Given the description of an element on the screen output the (x, y) to click on. 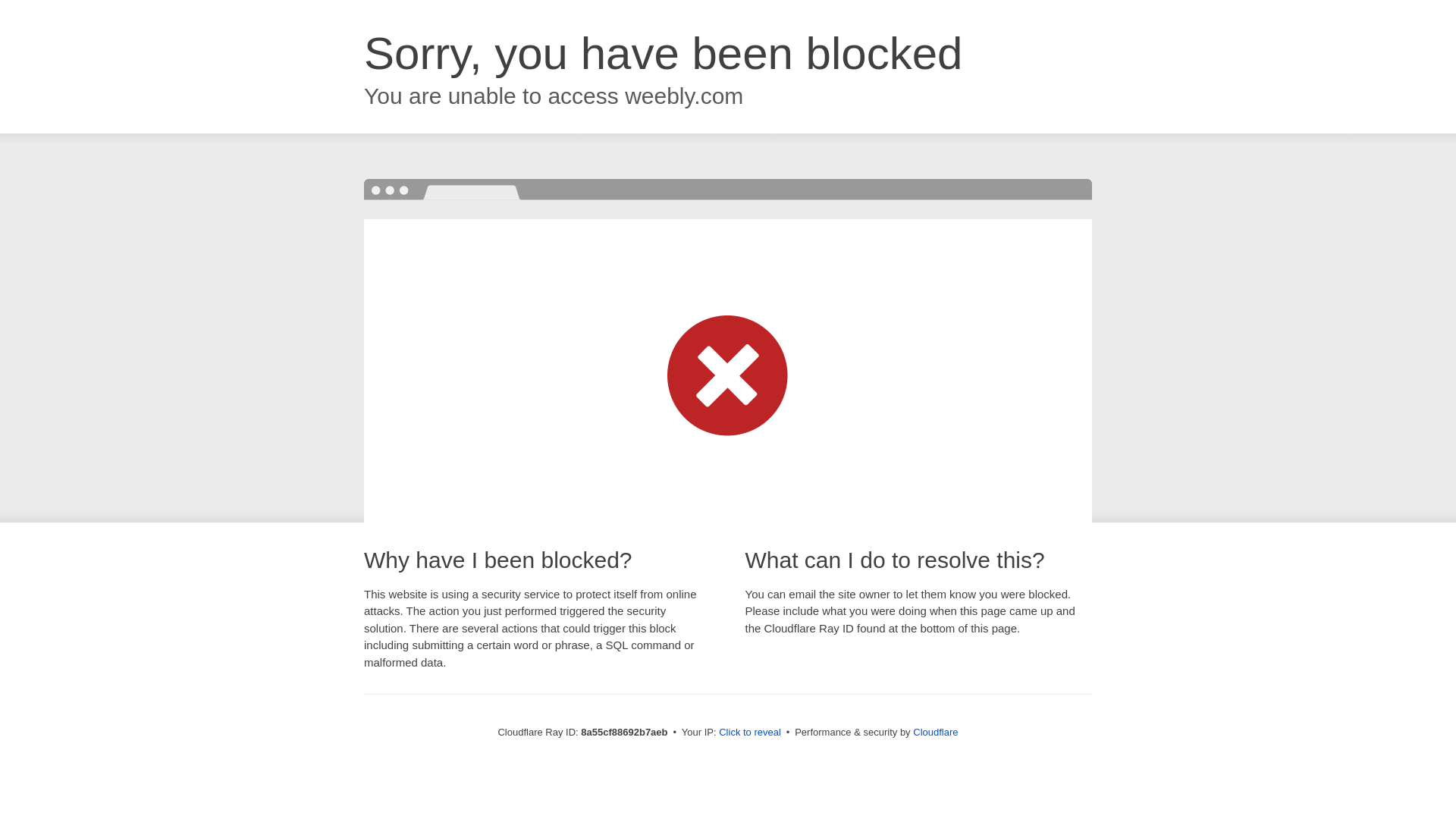
Cloudflare (935, 731)
Click to reveal (749, 732)
